Given the description of an element on the screen output the (x, y) to click on. 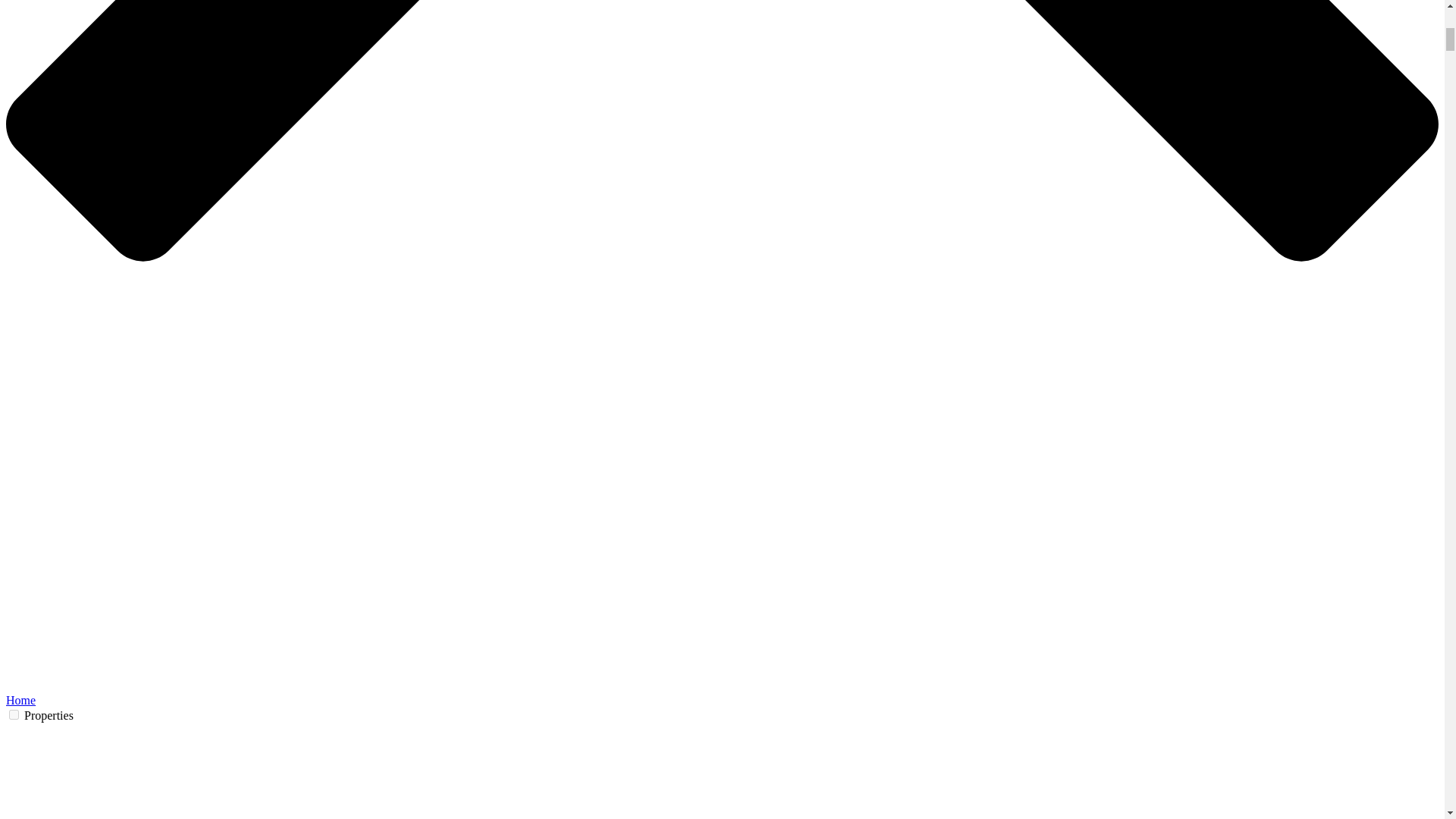
on (13, 714)
Home (19, 699)
